Given the description of an element on the screen output the (x, y) to click on. 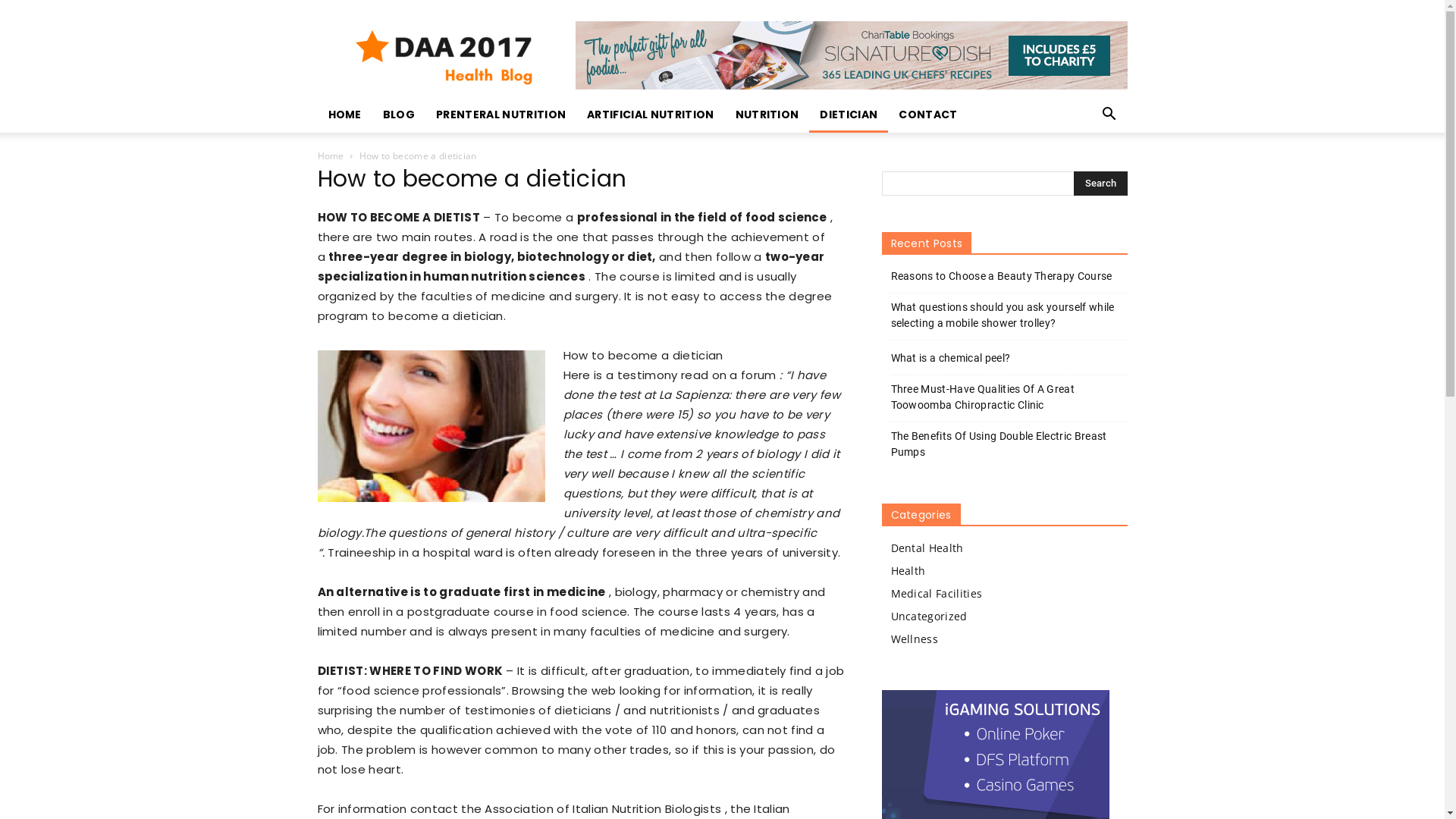
NUTRITION Element type: text (766, 114)
Reasons to Choose a Beauty Therapy Course Element type: text (1000, 276)
Wellness Element type: text (914, 638)
Medical Facilities Element type: text (936, 593)
PRENTERAL NUTRITION Element type: text (500, 114)
The Benefits Of Using Double Electric Breast Pumps Element type: text (1008, 444)
What is a chemical peel? Element type: text (950, 358)
Health Element type: text (907, 570)
HOME Element type: text (343, 114)
Uncategorized Element type: text (928, 615)
Search Element type: text (1100, 183)
CONTACT Element type: text (927, 114)
Home Element type: text (329, 155)
ARTIFICIAL NUTRITION Element type: text (650, 114)
Search Element type: text (1085, 175)
DIETICIAN Element type: text (848, 114)
BLOG Element type: text (398, 114)
Dental Health Element type: text (926, 547)
